Given the description of an element on the screen output the (x, y) to click on. 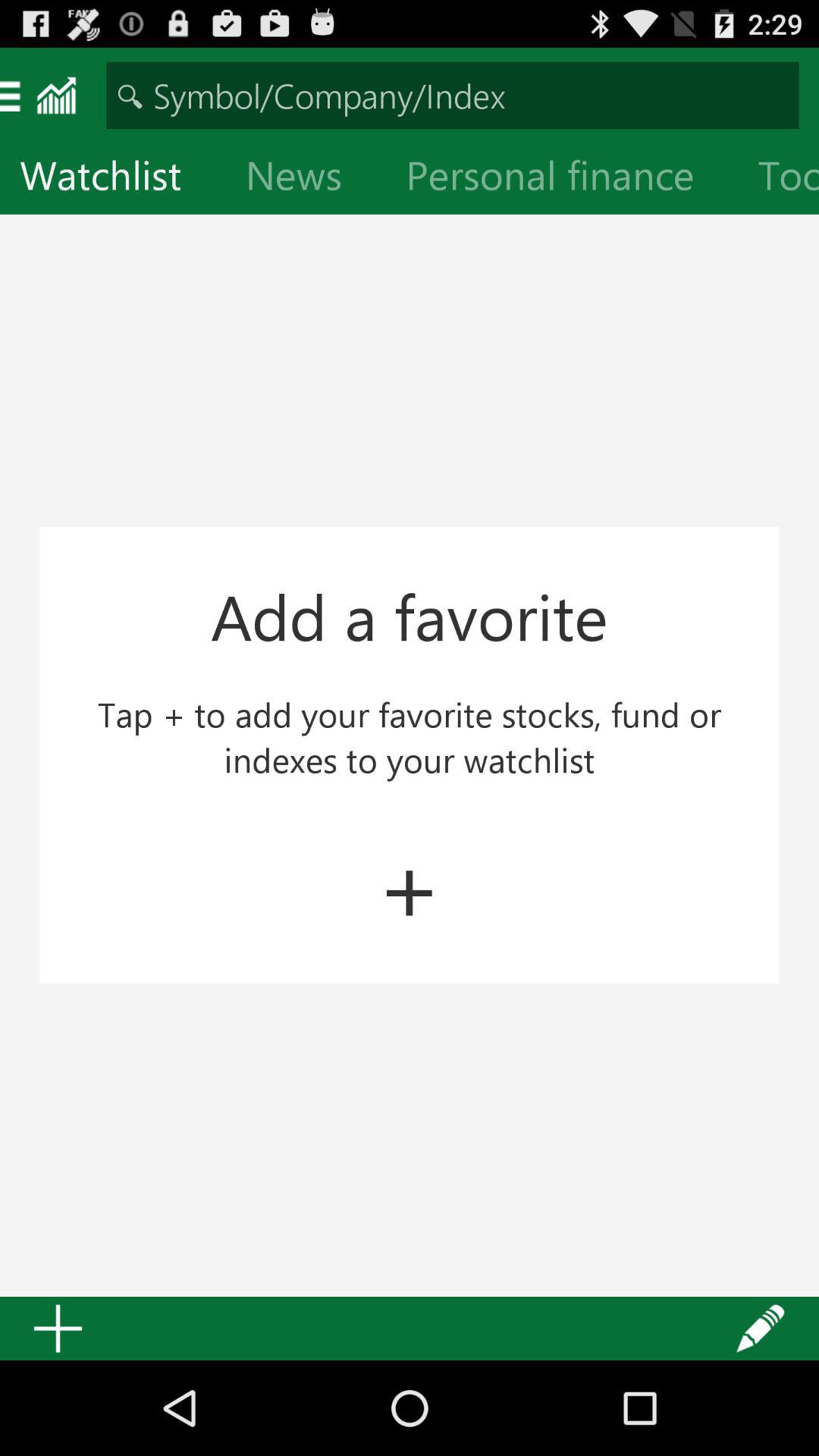
press tools icon (778, 178)
